Given the description of an element on the screen output the (x, y) to click on. 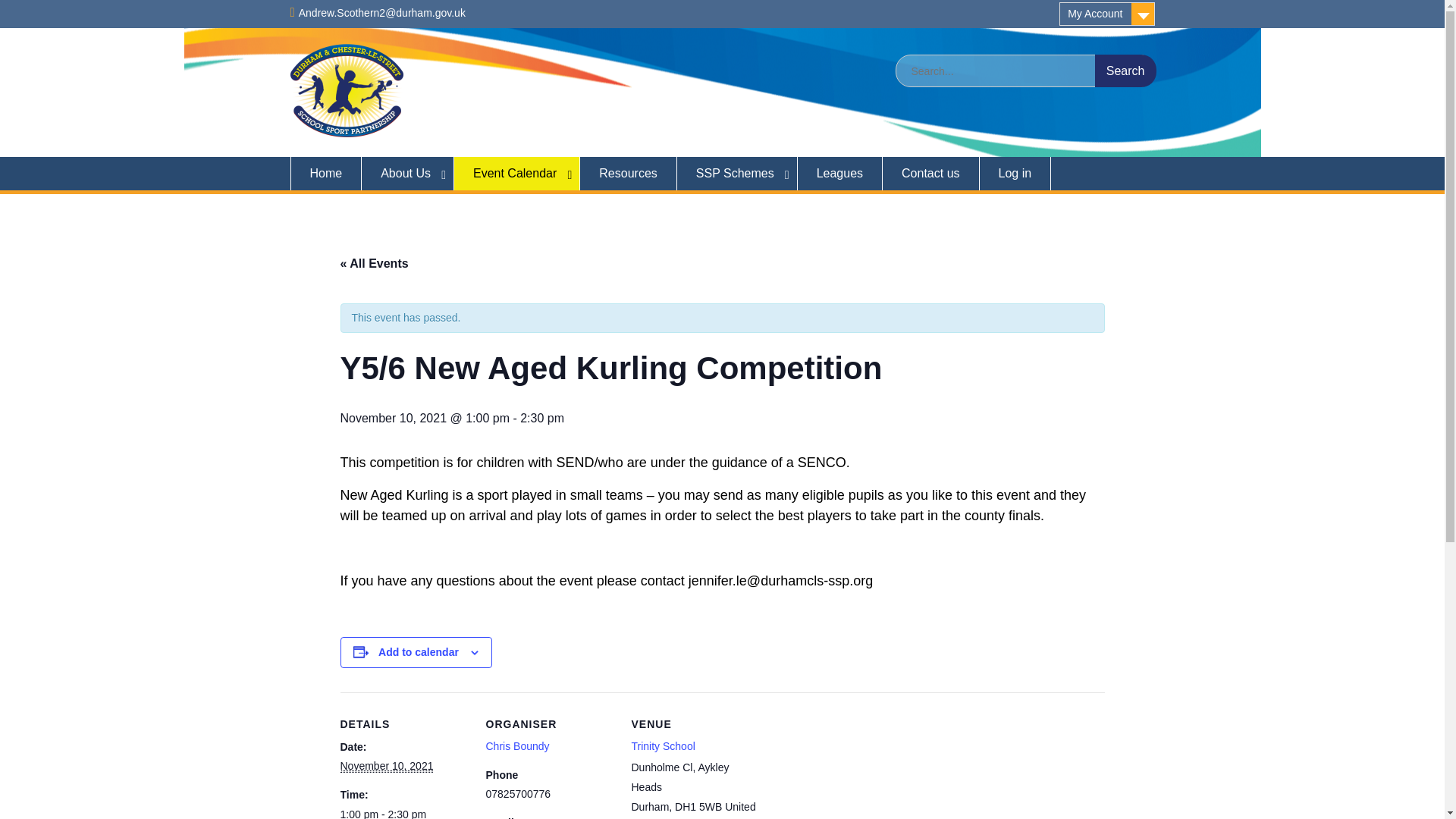
SSP Schemes (737, 173)
Search (1125, 70)
Search (1125, 70)
Contact us (930, 173)
Leagues (839, 173)
My Account (1106, 13)
Log in (1015, 173)
Resources (628, 173)
Chris Boundy (516, 746)
Search (1125, 70)
